Given the description of an element on the screen output the (x, y) to click on. 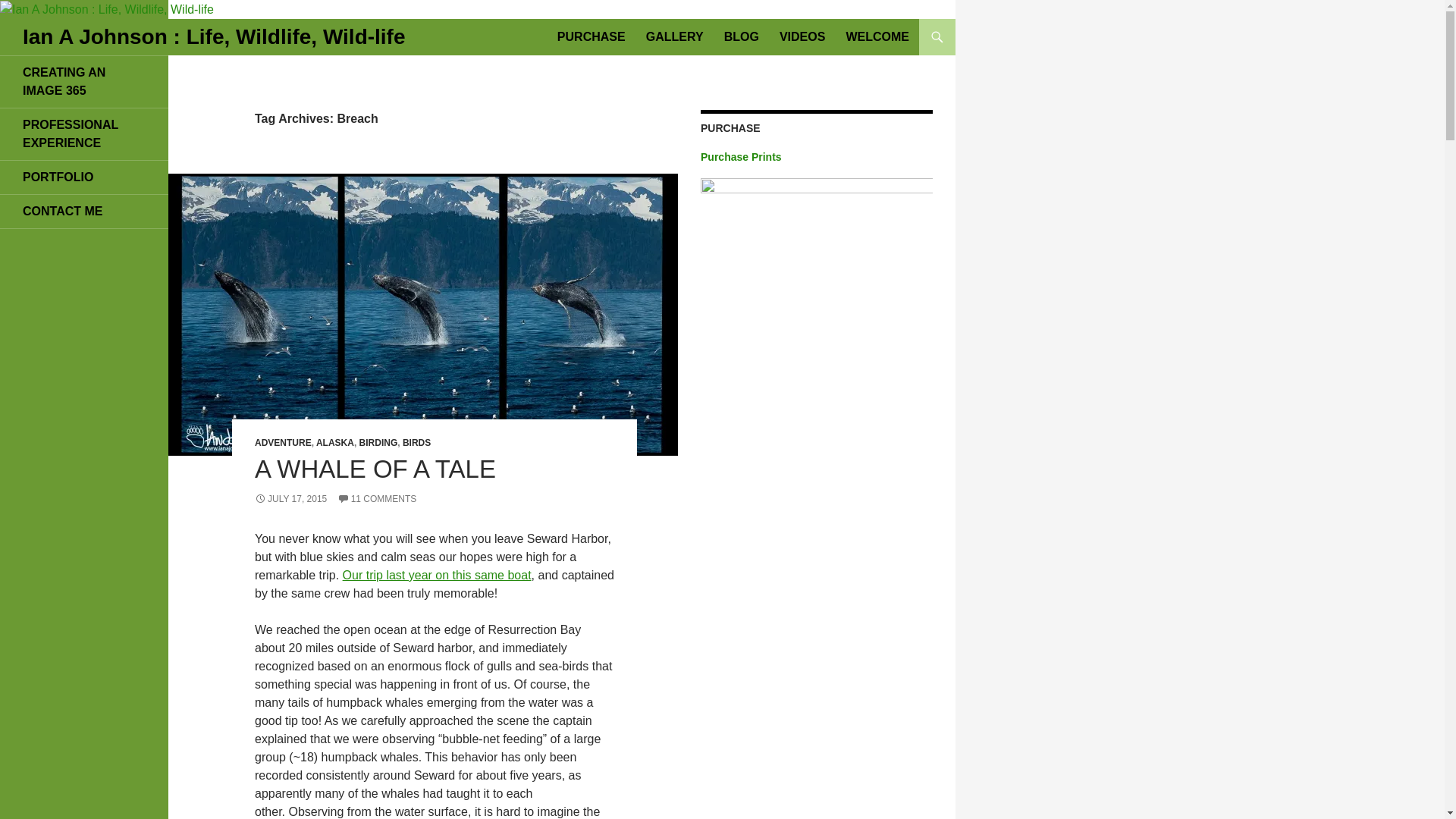
JULY 17, 2015 (290, 498)
ALASKA (334, 442)
11 COMMENTS (376, 498)
A WHALE OF A TALE (375, 469)
VIDEOS (802, 36)
Our trip last year on this same boat (436, 574)
WELCOME (876, 36)
BIRDING (378, 442)
GALLERY (675, 36)
BIRDS (416, 442)
ADVENTURE (282, 442)
Ian A Johnson : Life, Wildlife, Wild-life (214, 36)
PURCHASE (591, 36)
